Given the description of an element on the screen output the (x, y) to click on. 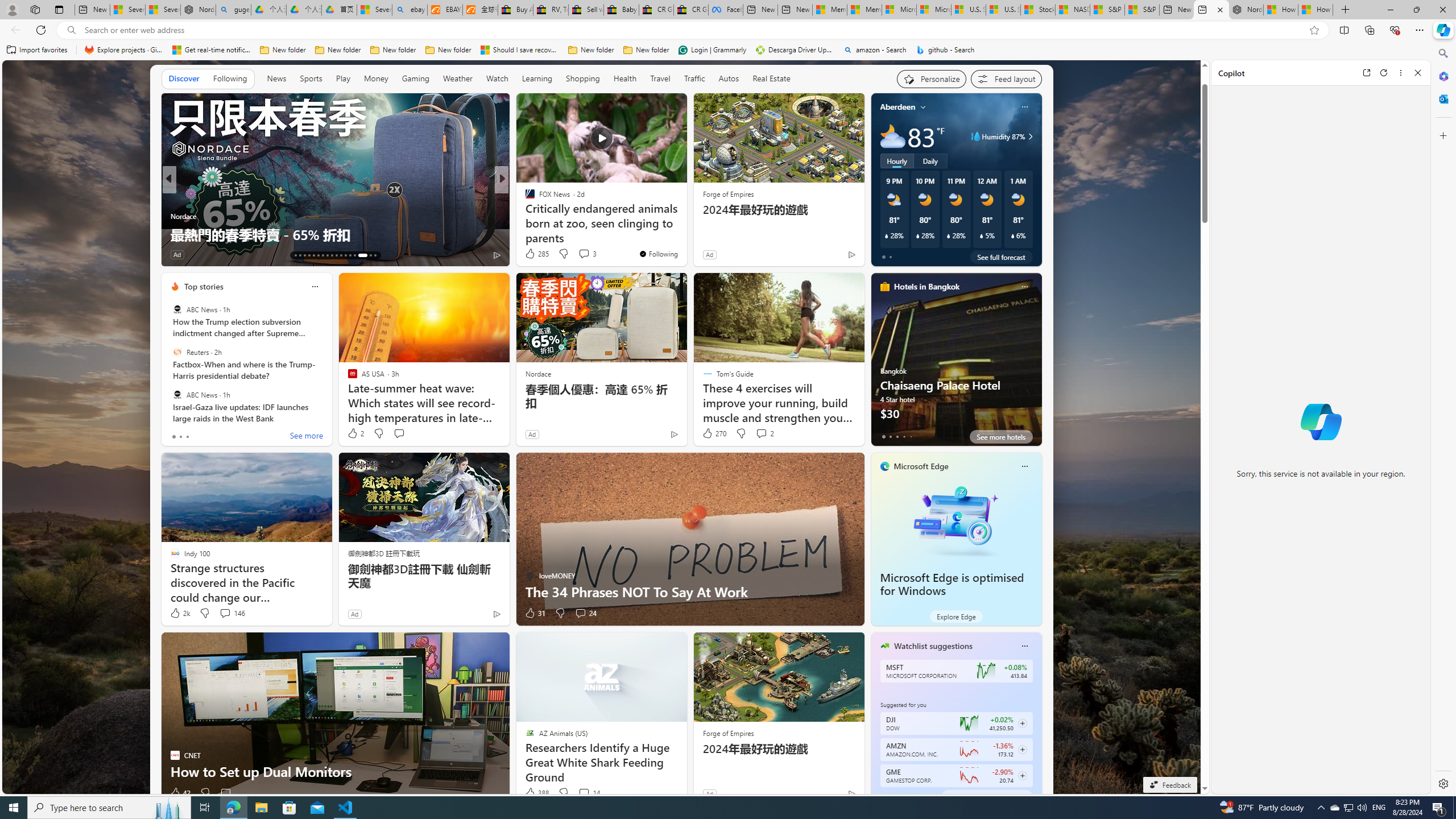
22 Like (530, 254)
See more (306, 436)
Microsoft 365 (1442, 76)
View comments 2 Comment (761, 432)
Search icon (70, 29)
Tab actions menu (58, 9)
You're following FOX News (657, 253)
View comments 24 Comment (585, 612)
View comments 2 Comment (764, 433)
243 Like (182, 254)
RV, Trailer & Camper Steps & Ladders for sale | eBay (550, 9)
Feed settings (1005, 78)
